Given the description of an element on the screen output the (x, y) to click on. 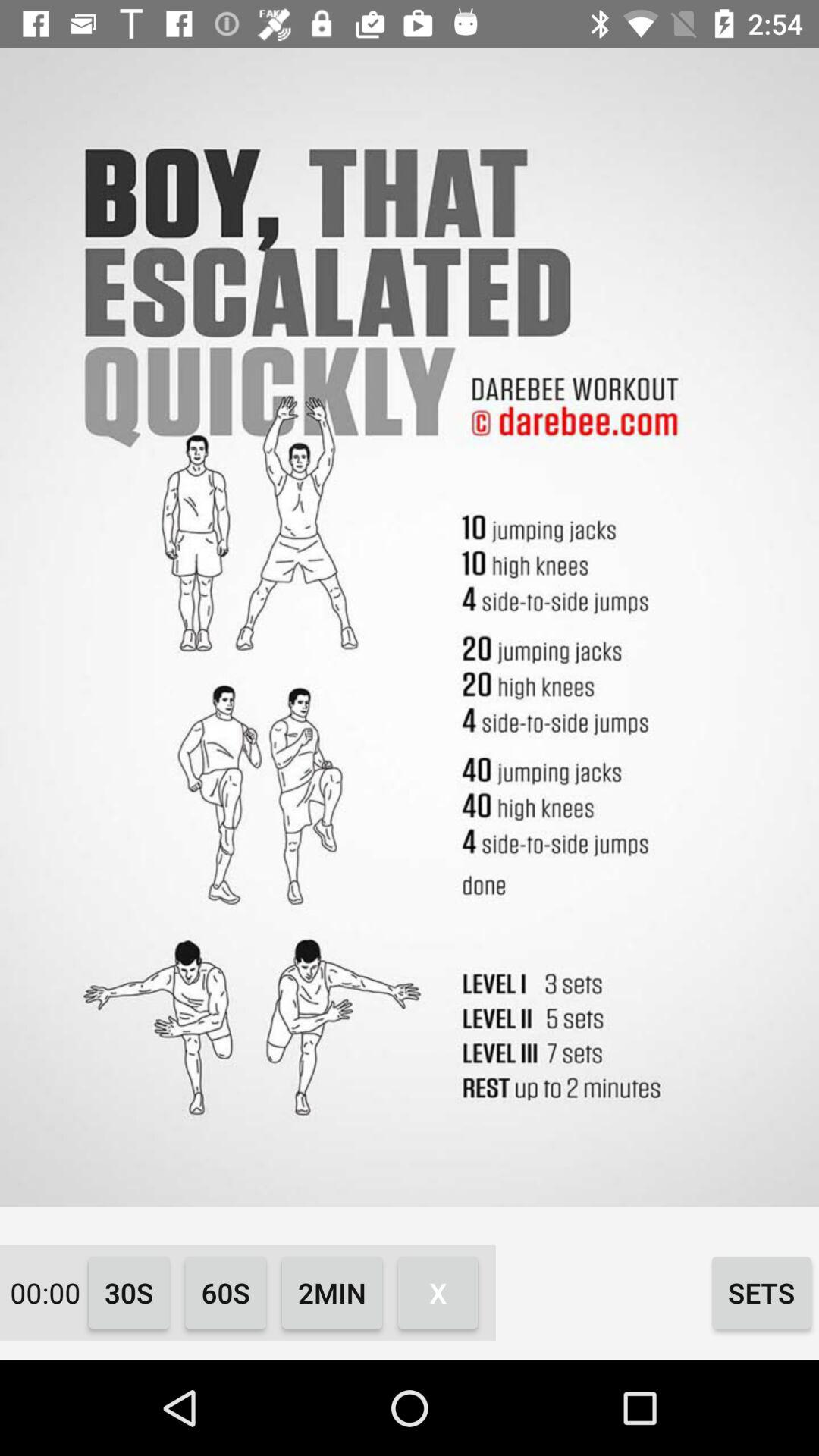
click item next to sets (437, 1292)
